Given the description of an element on the screen output the (x, y) to click on. 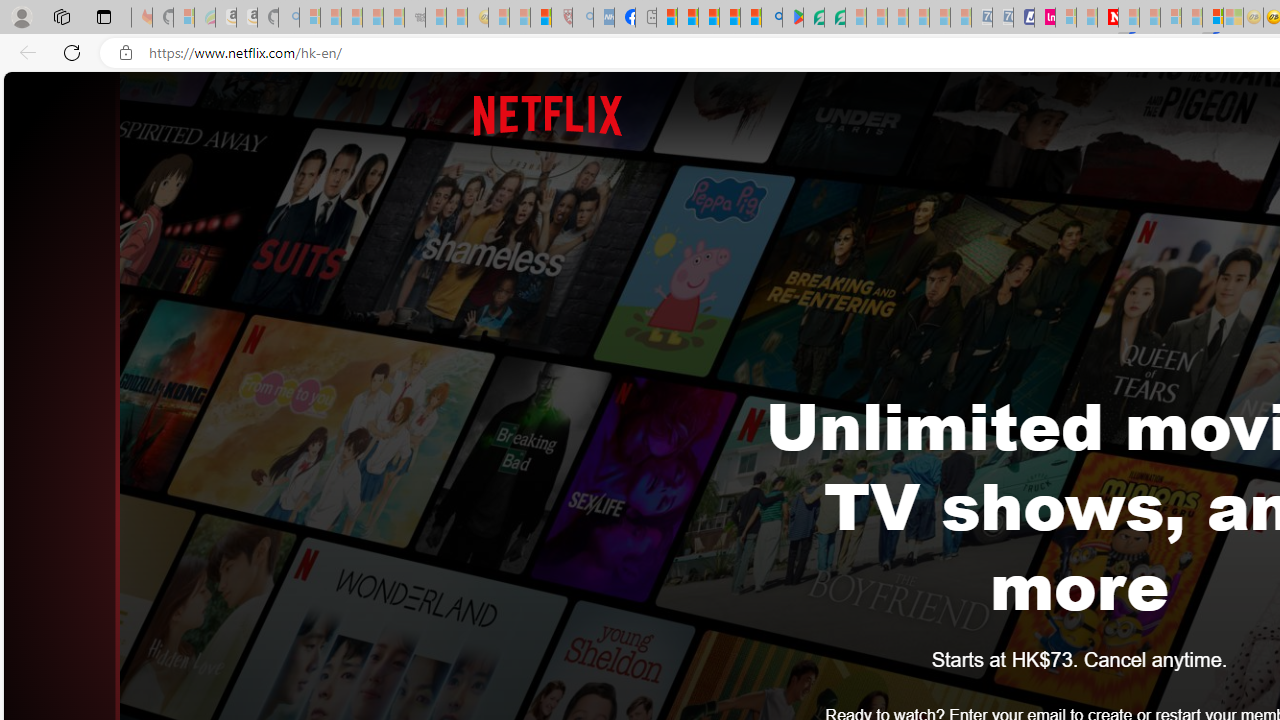
Local - MSN (541, 17)
Terms of Use Agreement (813, 17)
